Given the description of an element on the screen output the (x, y) to click on. 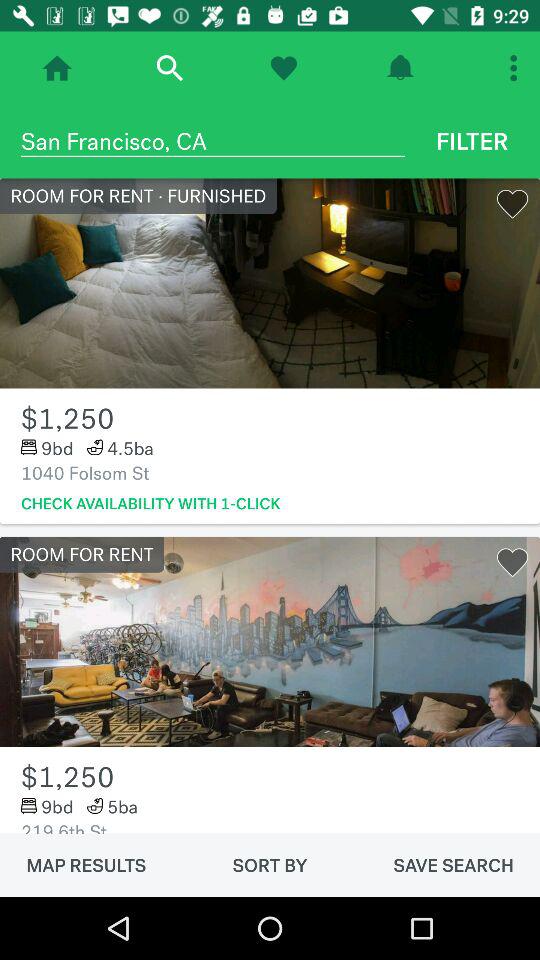
click on the heart option at the top of the page (283, 68)
